Given the description of an element on the screen output the (x, y) to click on. 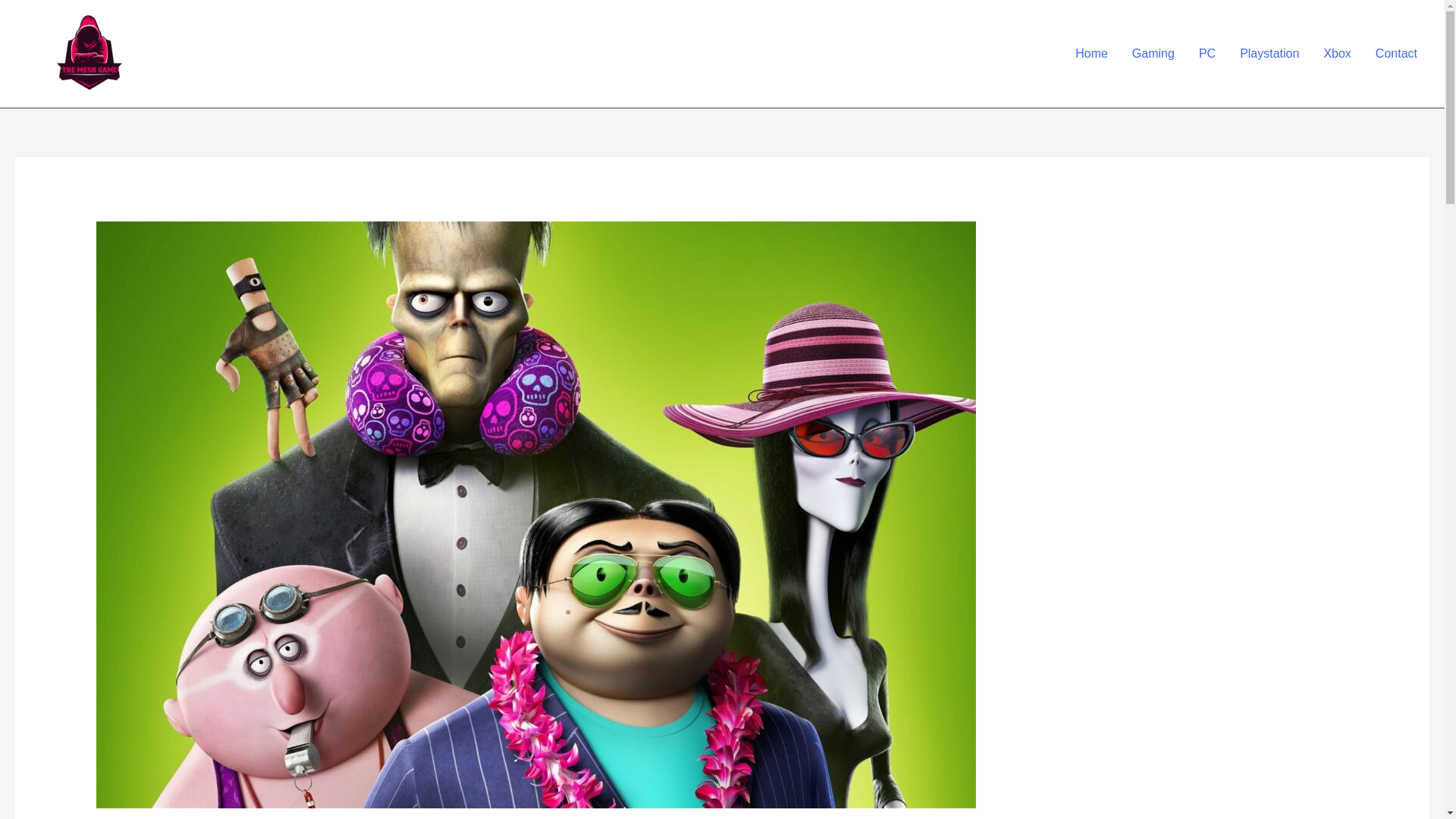
Home (1090, 53)
Gaming (1152, 53)
Playstation (1269, 53)
Contact (1395, 53)
